Given the description of an element on the screen output the (x, y) to click on. 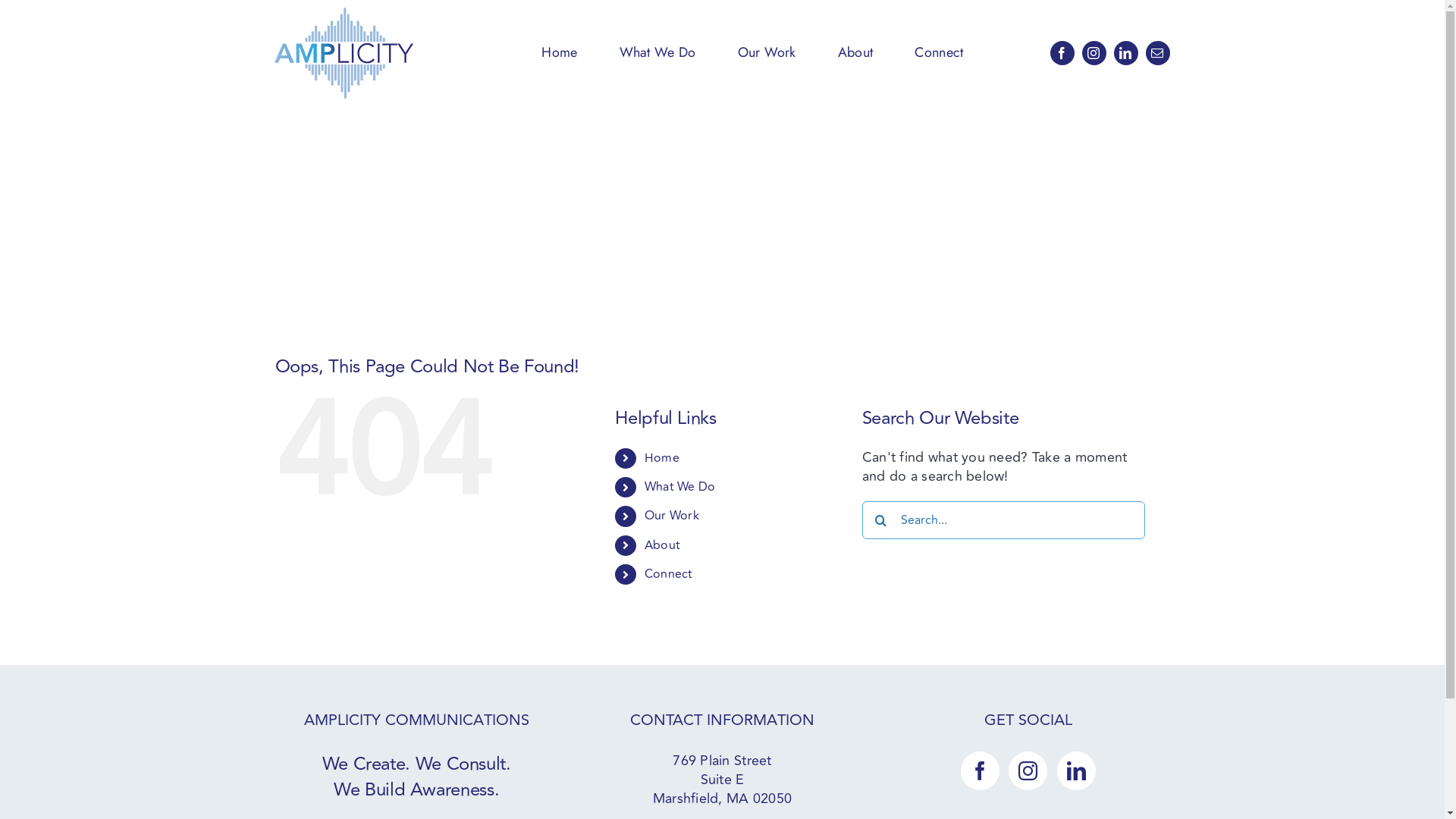
Home Element type: text (661, 457)
About Element type: text (662, 545)
Connect Element type: text (938, 52)
About Element type: text (855, 52)
Instagram Element type: hover (1094, 52)
LinkedIn Element type: hover (1076, 770)
What We Do Element type: text (657, 52)
LinkedIn Element type: hover (1125, 52)
769 Plain Street
Suite E
Marshfield, MA 02050 Element type: text (721, 779)
Our Work Element type: text (766, 52)
Email Element type: hover (1157, 52)
Our Work Element type: text (671, 515)
Instagram Element type: hover (1027, 770)
Home Element type: text (558, 52)
What We Do Element type: text (679, 486)
Connect Element type: text (668, 573)
Facebook Element type: hover (979, 770)
Facebook Element type: hover (1062, 52)
